Given the description of an element on the screen output the (x, y) to click on. 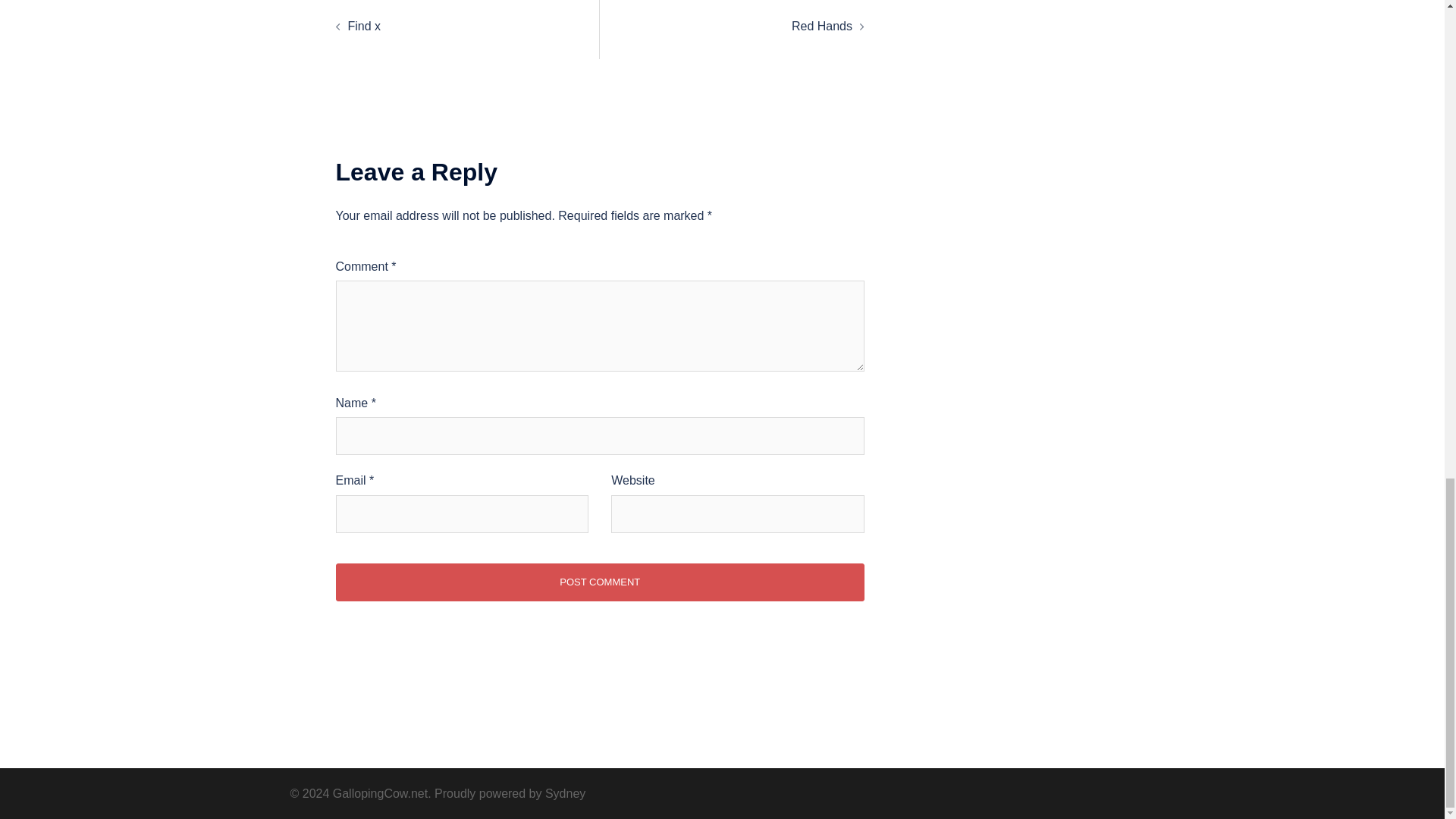
Sydney (564, 793)
Post Comment (599, 582)
Post Comment (599, 582)
Red Hands (821, 25)
Find x (363, 25)
